Given the description of an element on the screen output the (x, y) to click on. 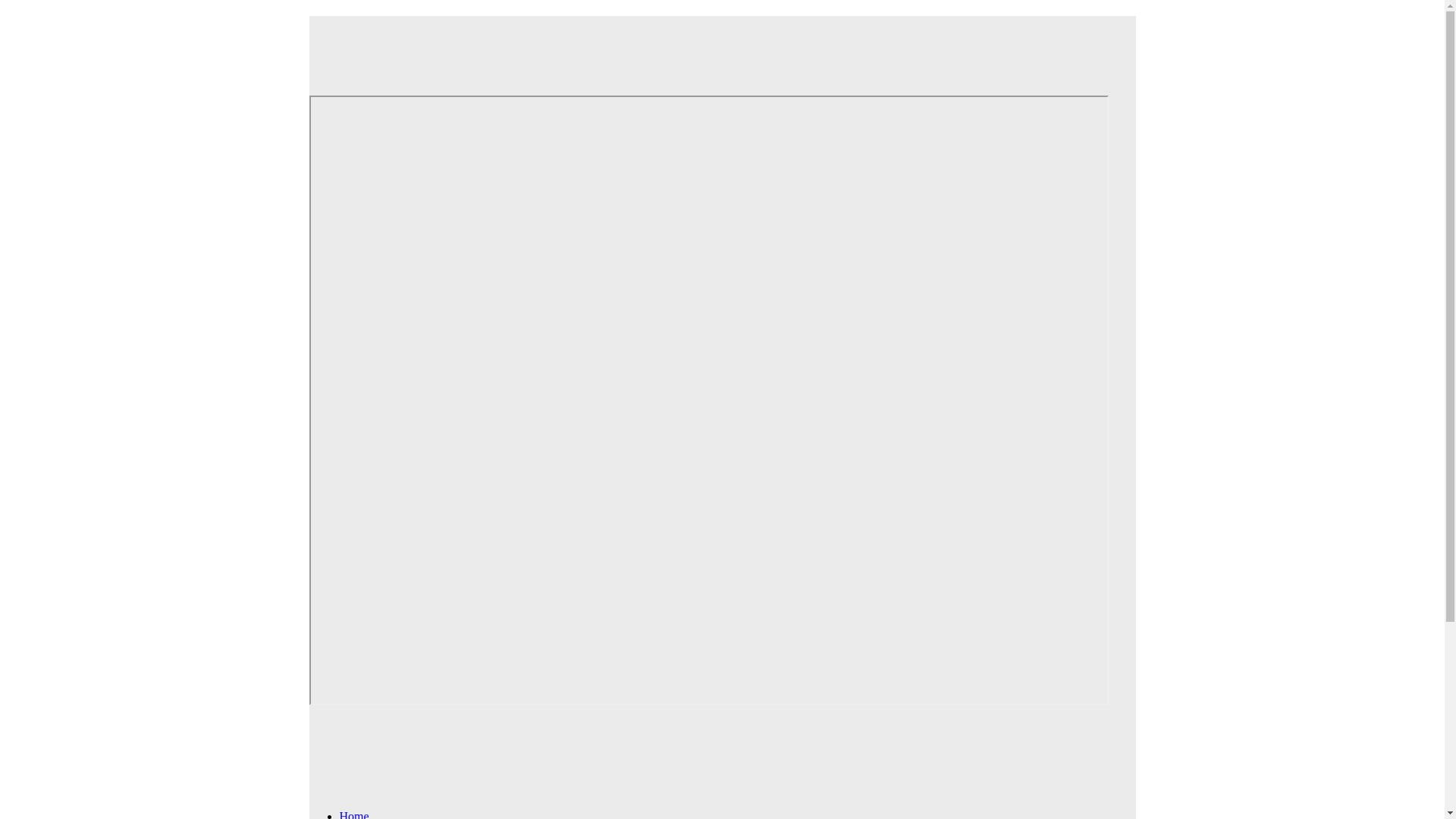
Web Hosting from Just Host Element type: text (707, 44)
